Given the description of an element on the screen output the (x, y) to click on. 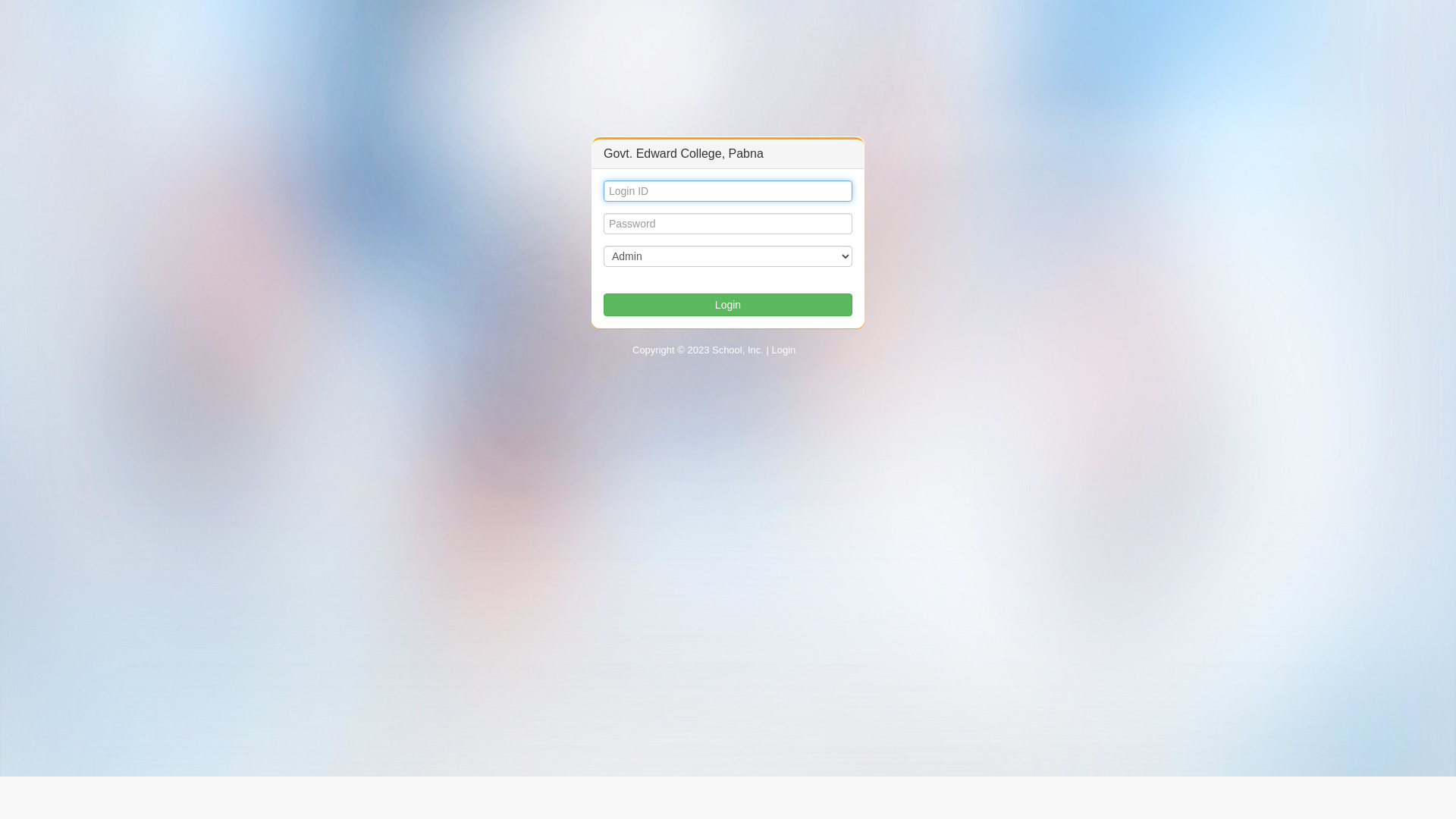
Login Element type: text (783, 349)
Login Element type: text (727, 304)
